Given the description of an element on the screen output the (x, y) to click on. 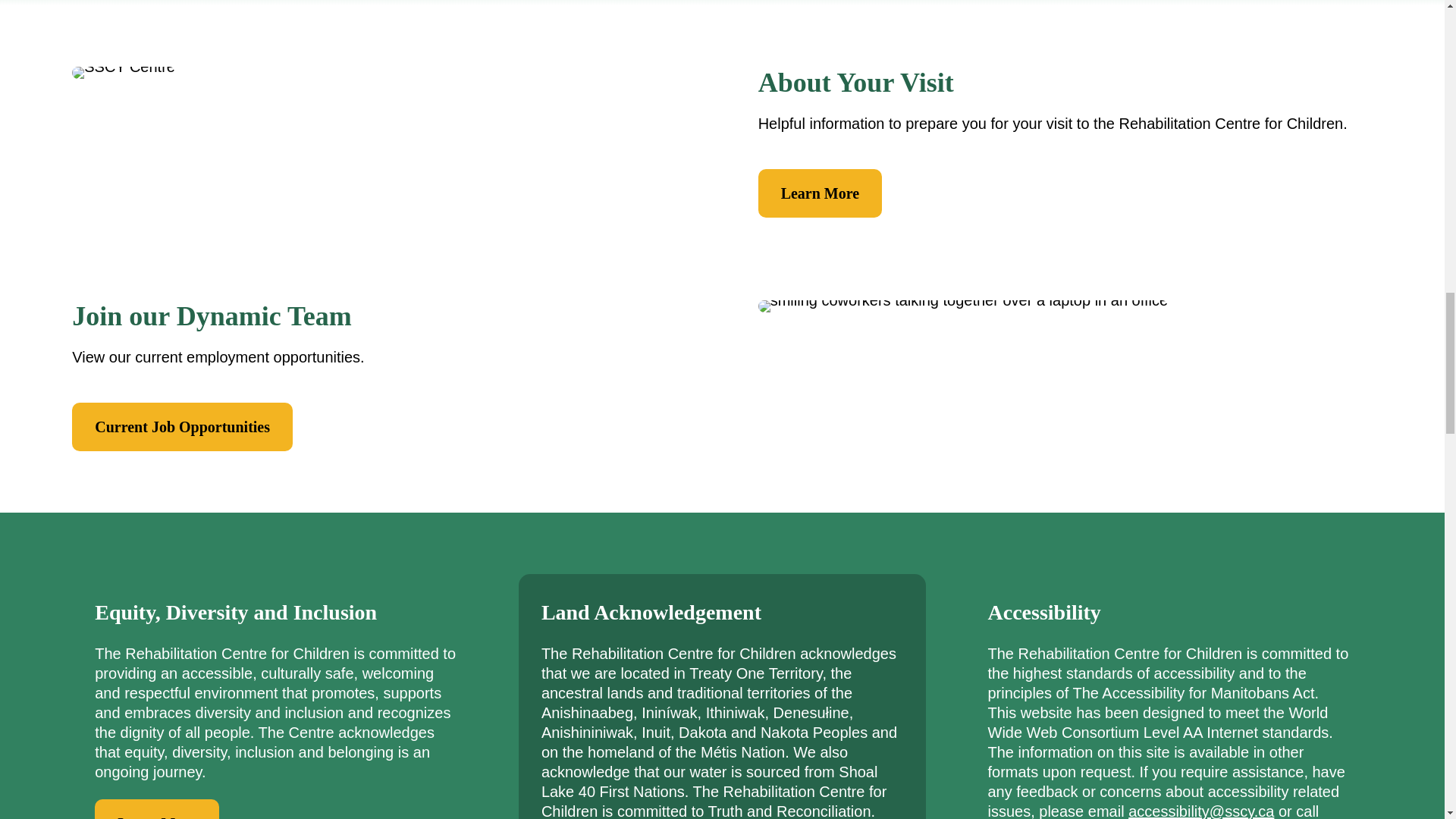
Current Job Opportunities (181, 426)
Learn More (156, 809)
Learn More (820, 192)
